Given the description of an element on the screen output the (x, y) to click on. 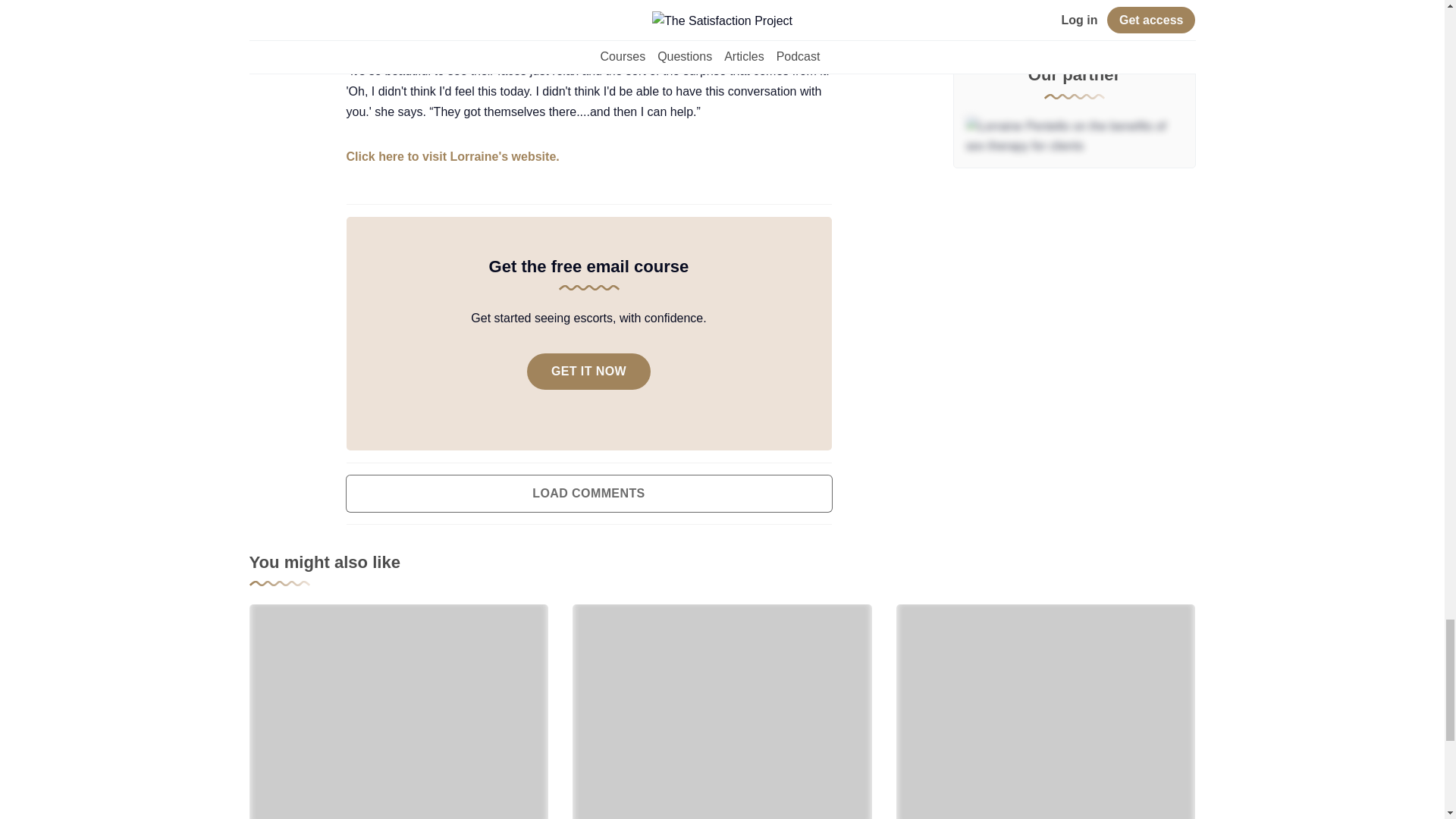
"Why don't sex workers date each other?" (398, 711)
